Given the description of an element on the screen output the (x, y) to click on. 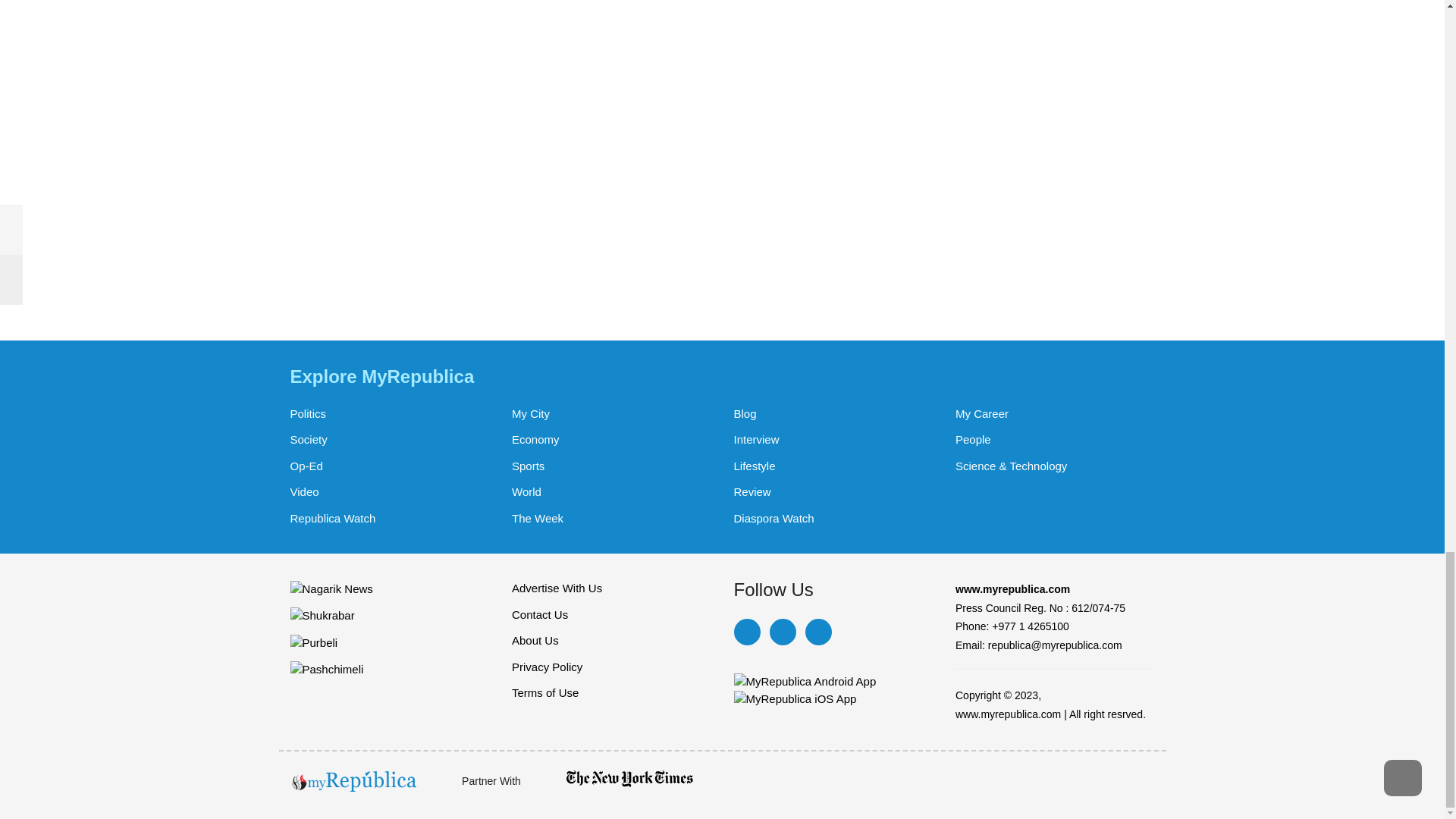
Twitter (781, 632)
Youtube (818, 632)
Facebook (746, 632)
